Given the description of an element on the screen output the (x, y) to click on. 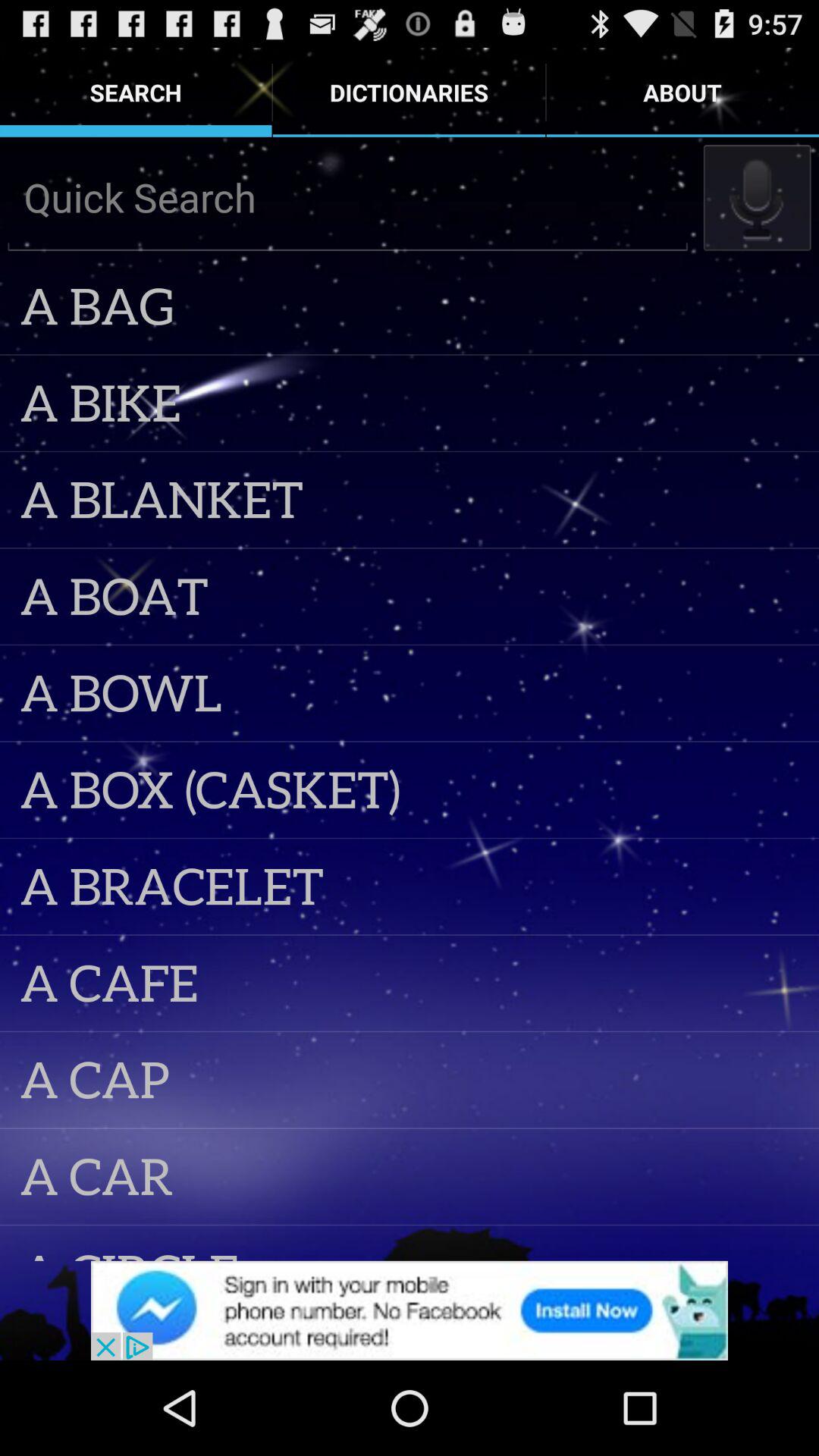
enter search term (347, 197)
